Given the description of an element on the screen output the (x, y) to click on. 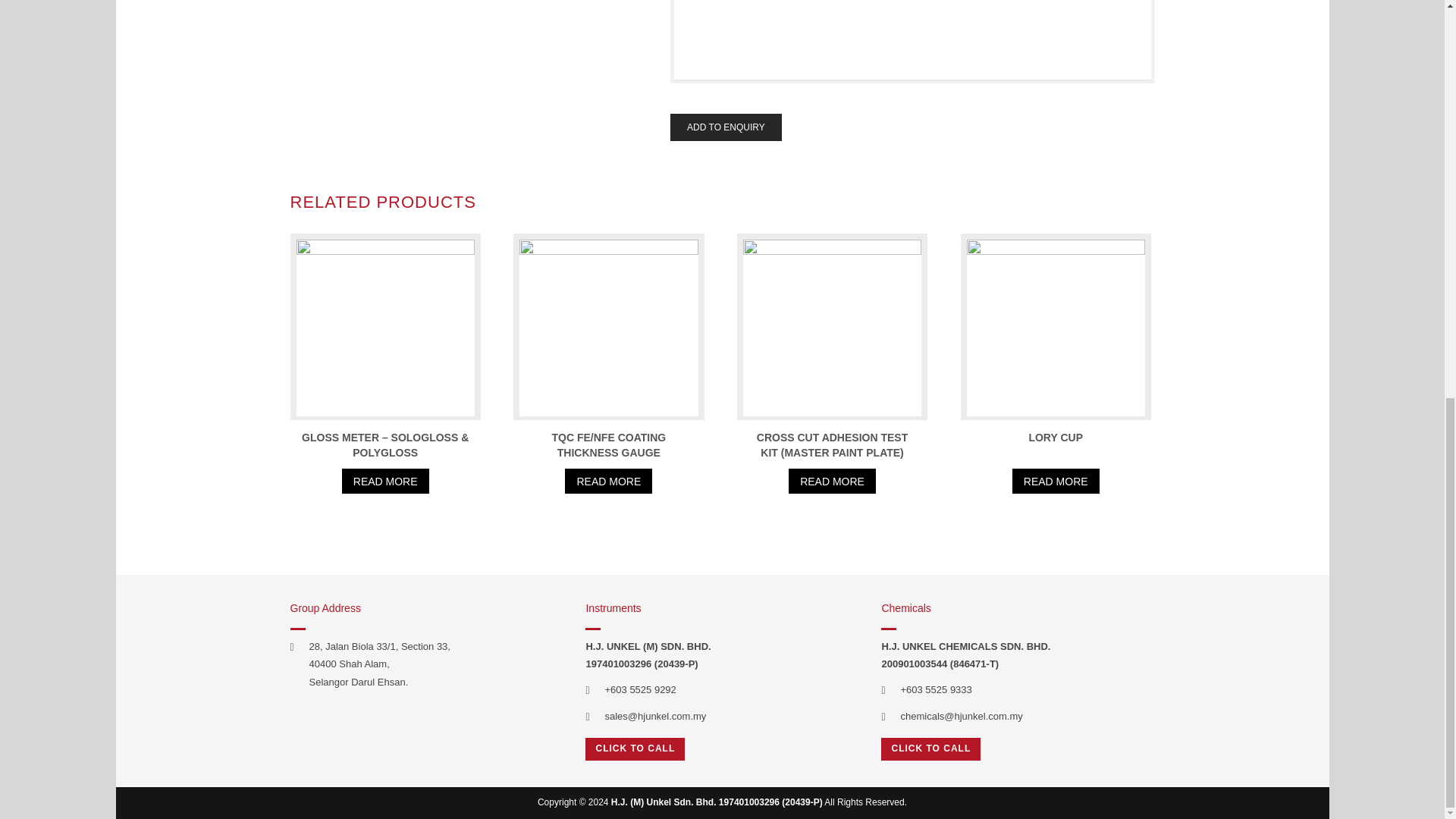
READ MORE (385, 480)
READ MORE (608, 480)
ADD TO ENQUIRY (725, 126)
